Given the description of an element on the screen output the (x, y) to click on. 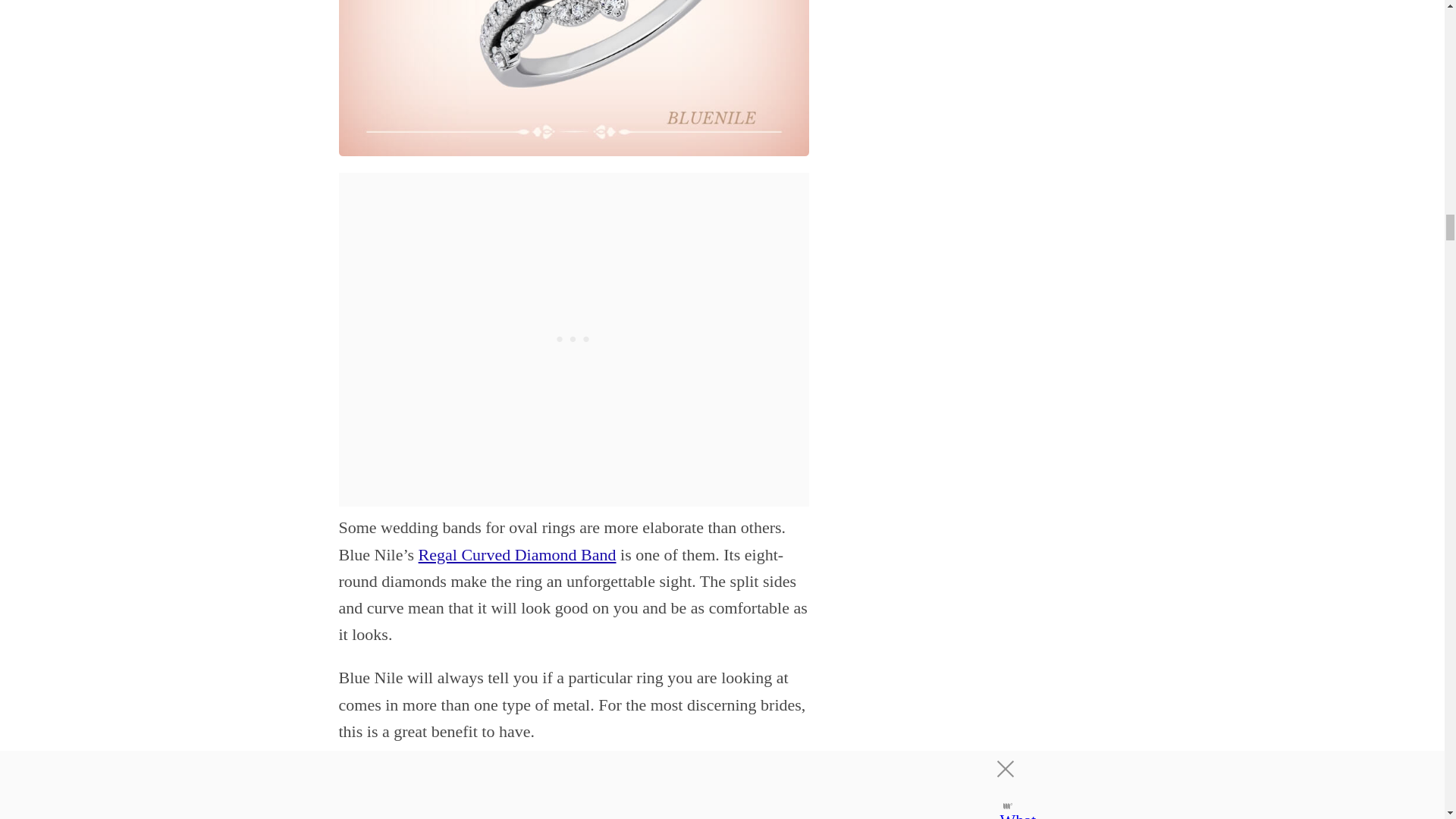
Regal Curved Diamond Band (517, 554)
